Given the description of an element on the screen output the (x, y) to click on. 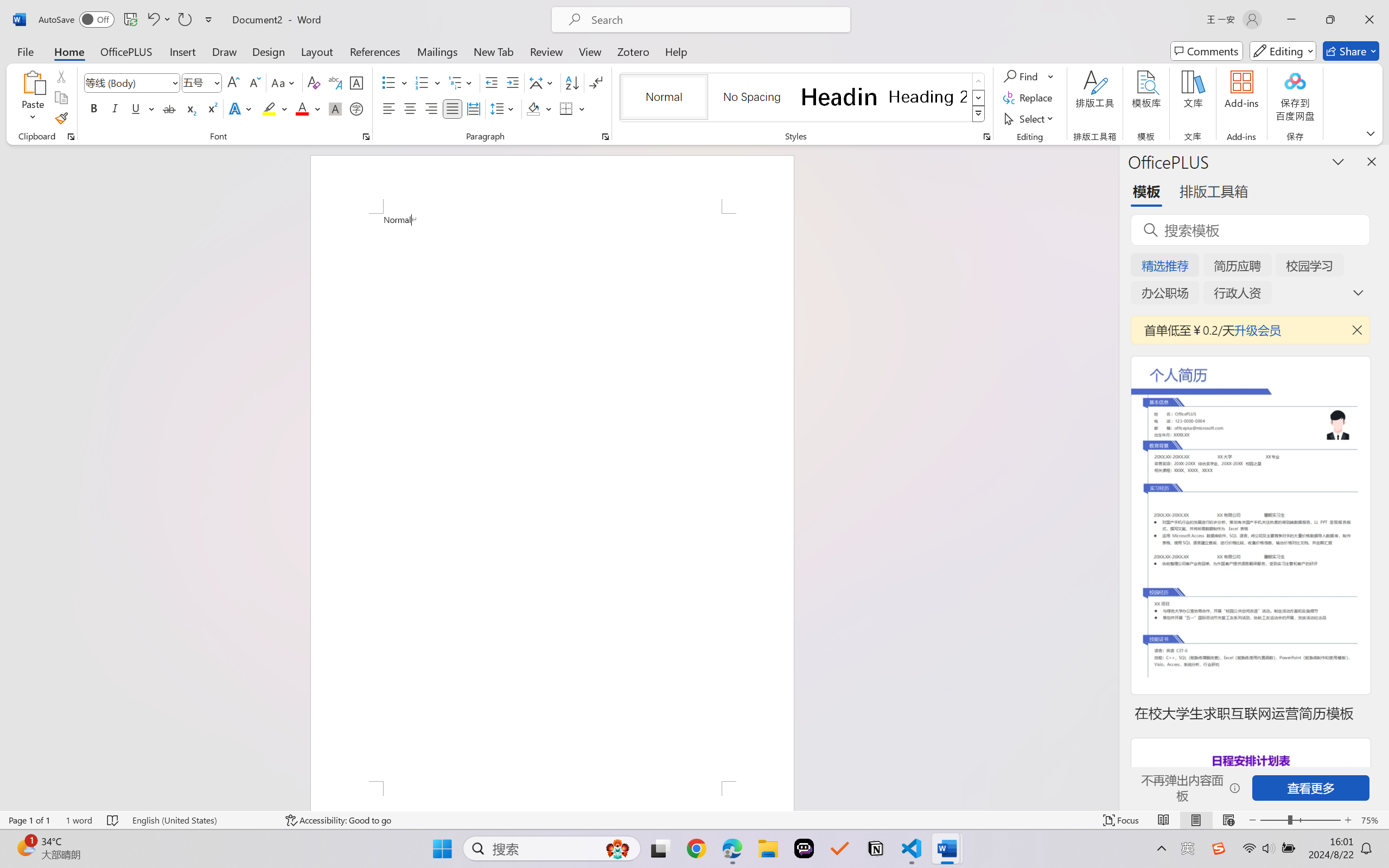
Read Mode (1163, 819)
Paragraph... (605, 136)
Print Layout (1196, 819)
Font Color (308, 108)
Paste (33, 81)
More Options (1051, 75)
Borders (571, 108)
Styles (978, 113)
Font Color Red (302, 108)
Find (1022, 75)
OfficePLUS (126, 51)
Underline (135, 108)
